Given the description of an element on the screen output the (x, y) to click on. 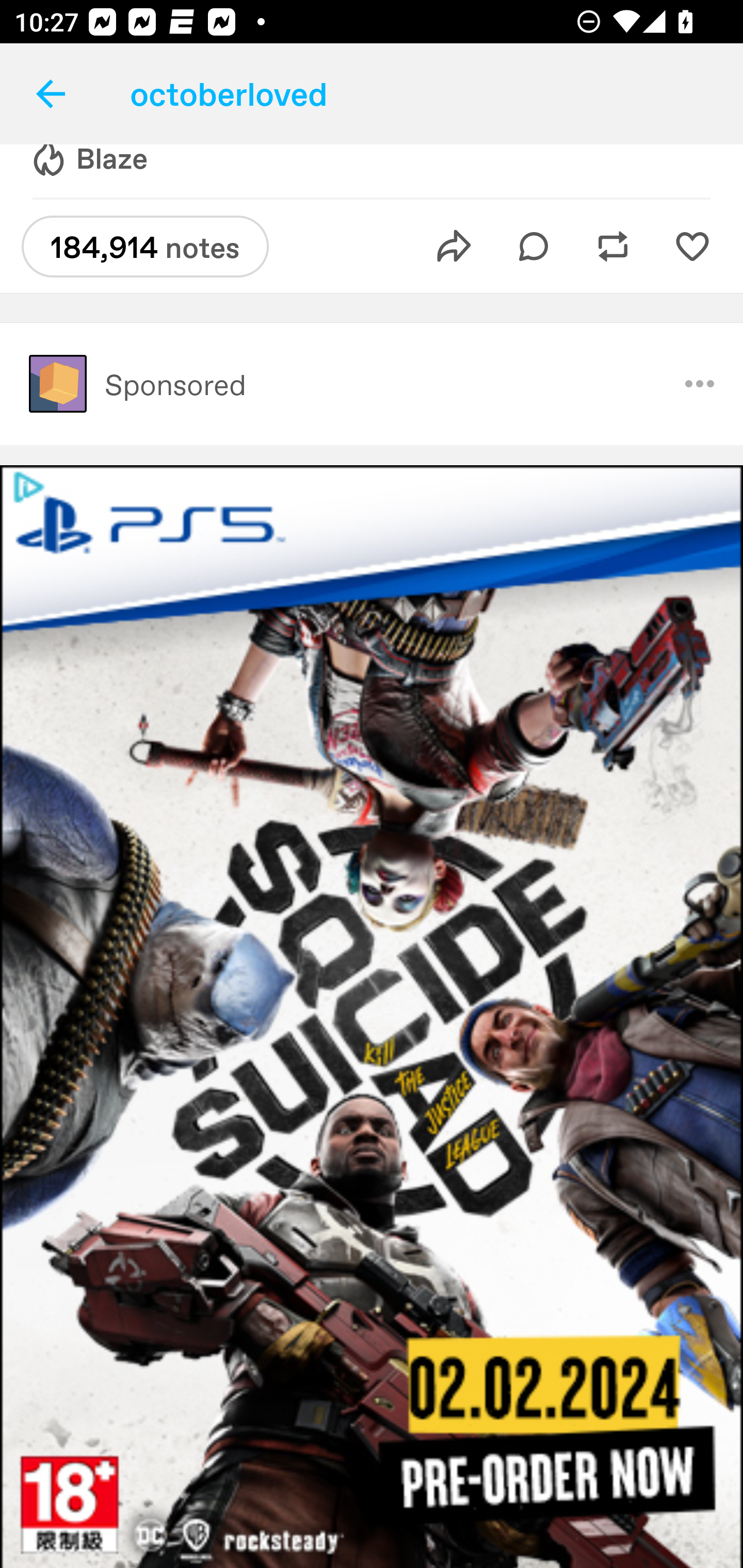
Navigate up (50, 93)
Blaze Blaze Blaze (88, 170)
Share post to message (454, 246)
Reply (533, 246)
Reblog (612, 246)
Like (691, 246)
184,914 notes (144, 246)
Why do I see this ad? (699, 384)
